Given the description of an element on the screen output the (x, y) to click on. 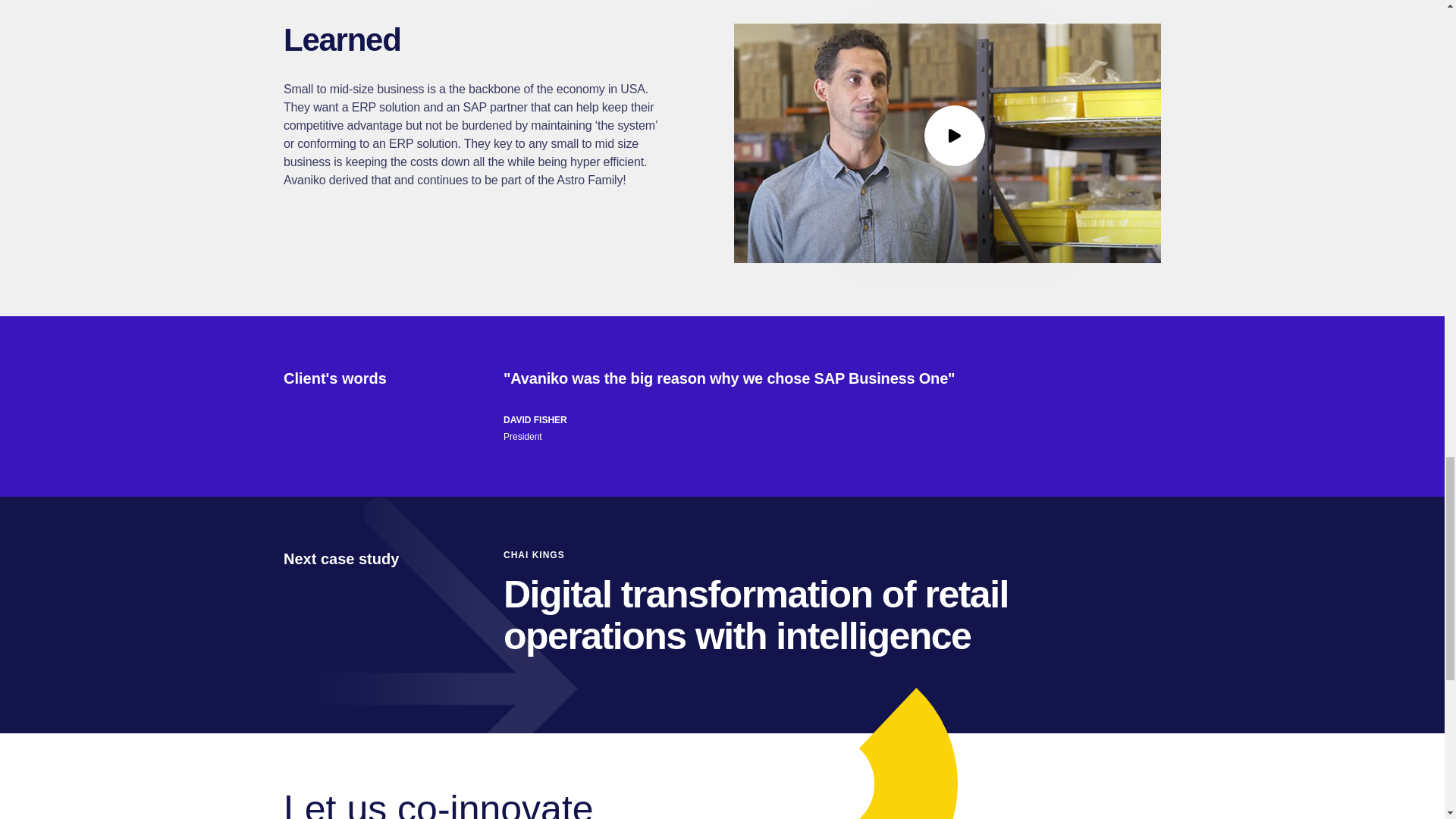
semicircle-y (845, 753)
